Given the description of an element on the screen output the (x, y) to click on. 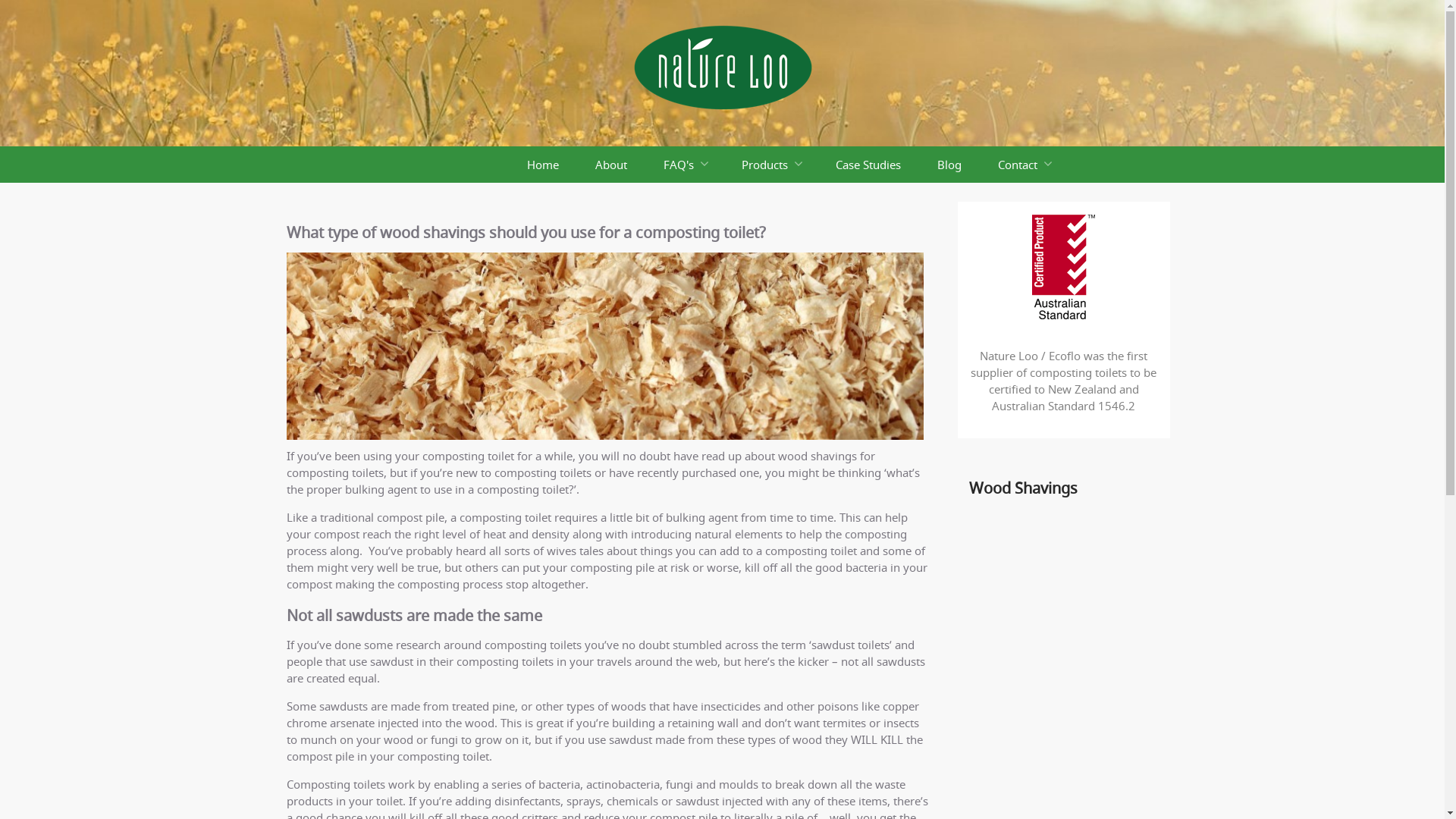
Case Studies Element type: text (868, 164)
Blog Element type: text (949, 164)
FAQ's Element type: text (683, 164)
Products Element type: text (769, 164)
Home Element type: text (541, 164)
Contact Element type: text (1023, 164)
About Element type: text (610, 164)
